Given the description of an element on the screen output the (x, y) to click on. 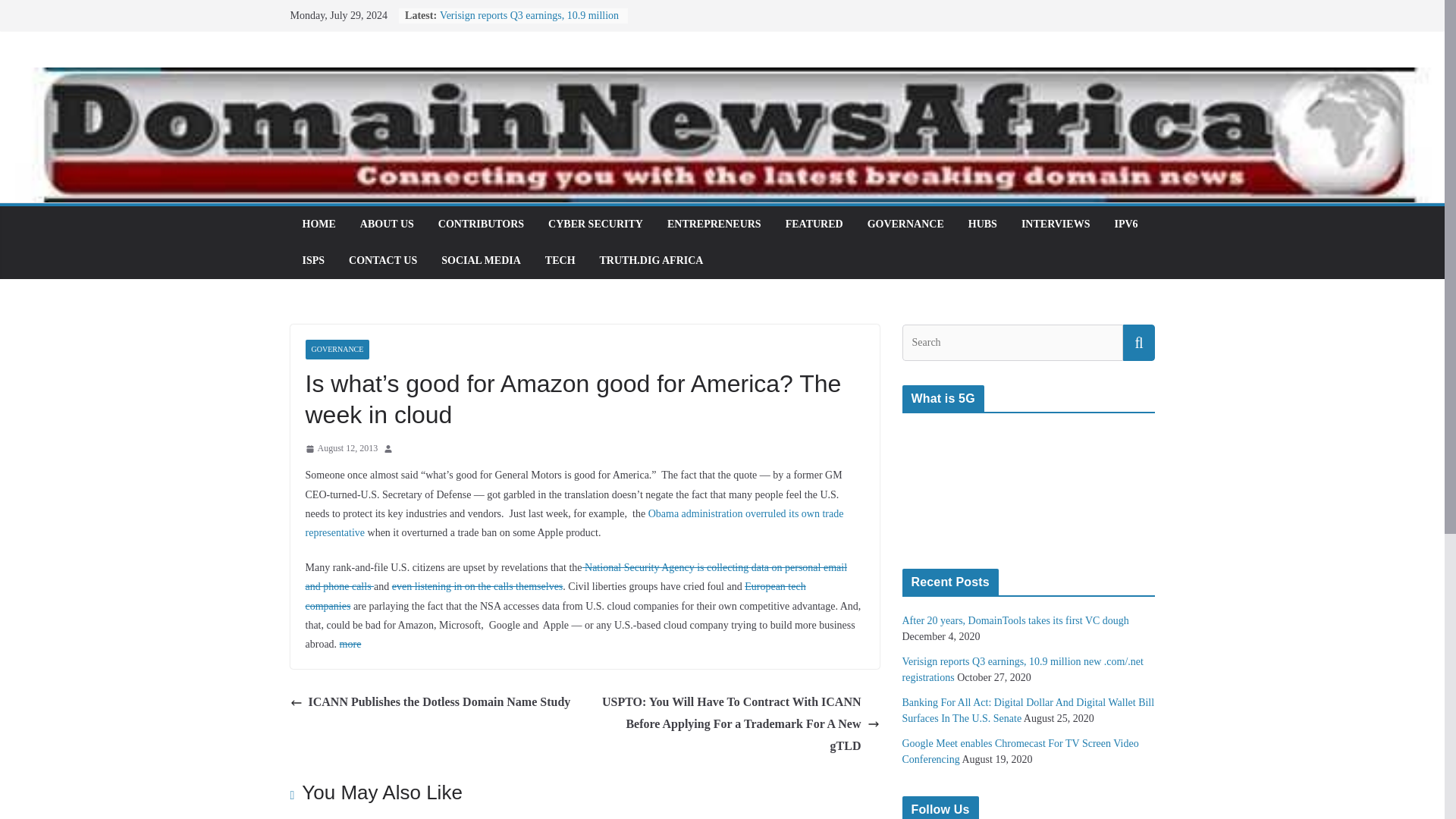
FEATURED (814, 224)
ISPS (312, 260)
GOVERNANCE (336, 349)
CONTRIBUTORS (481, 224)
European tech companies (554, 595)
HOME (317, 224)
ENTREPRENEURS (713, 224)
3:22 pm (340, 448)
even listening in on the calls themselves (477, 586)
INTERVIEWS (1056, 224)
TRUTH.DIG AFRICA (651, 260)
IPV6 (1125, 224)
HUBS (982, 224)
Obama administration overruled its own trade representative (573, 522)
GOVERNANCE (905, 224)
